Given the description of an element on the screen output the (x, y) to click on. 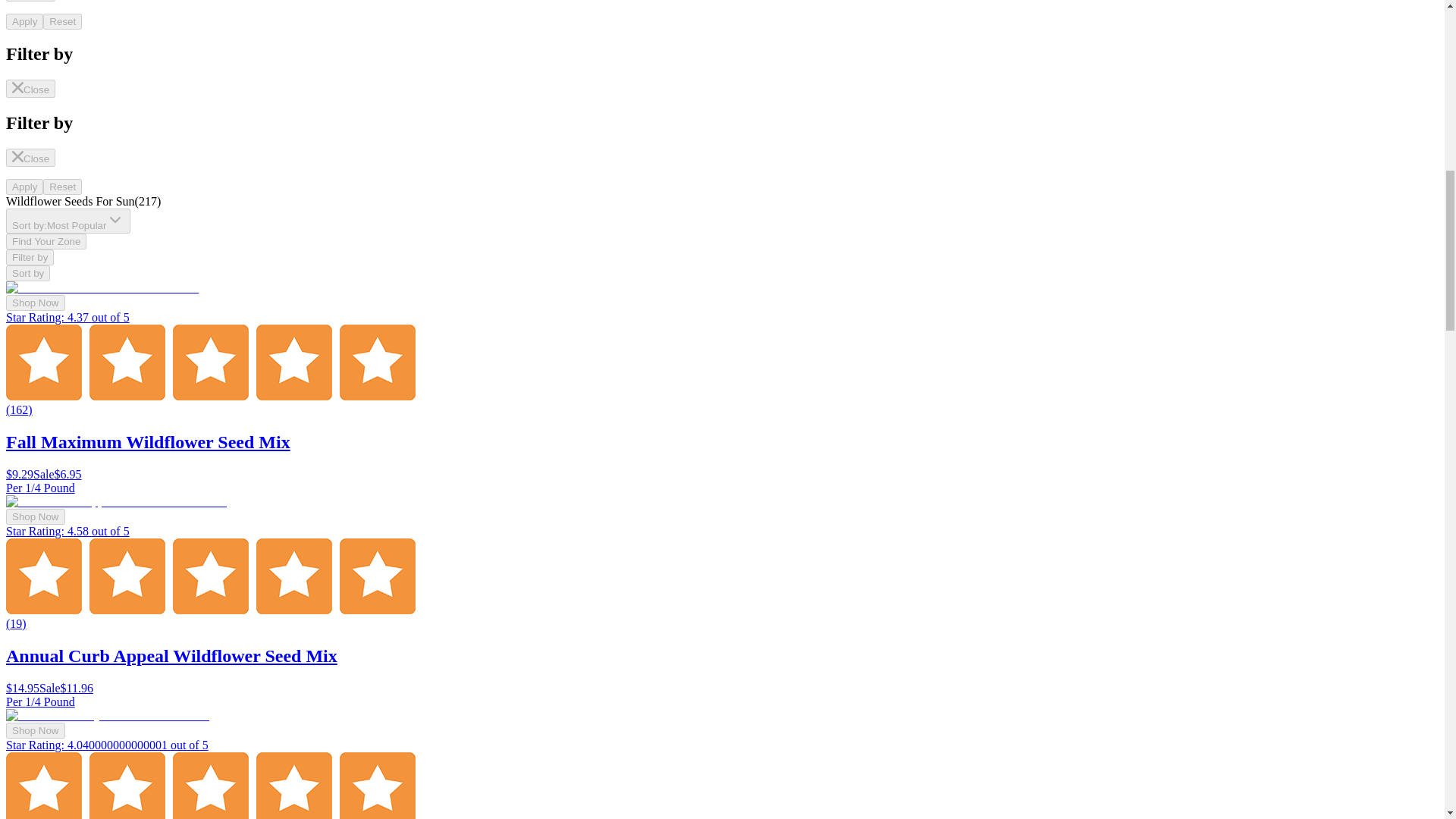
Close (30, 0)
Reset (62, 21)
Filter by (29, 257)
Sort by (27, 273)
Sort by:Most Popular (68, 220)
Reset (62, 186)
Apply (24, 186)
Shop Now (35, 516)
Find Your Zone (45, 241)
Shop Now (35, 302)
